Given the description of an element on the screen output the (x, y) to click on. 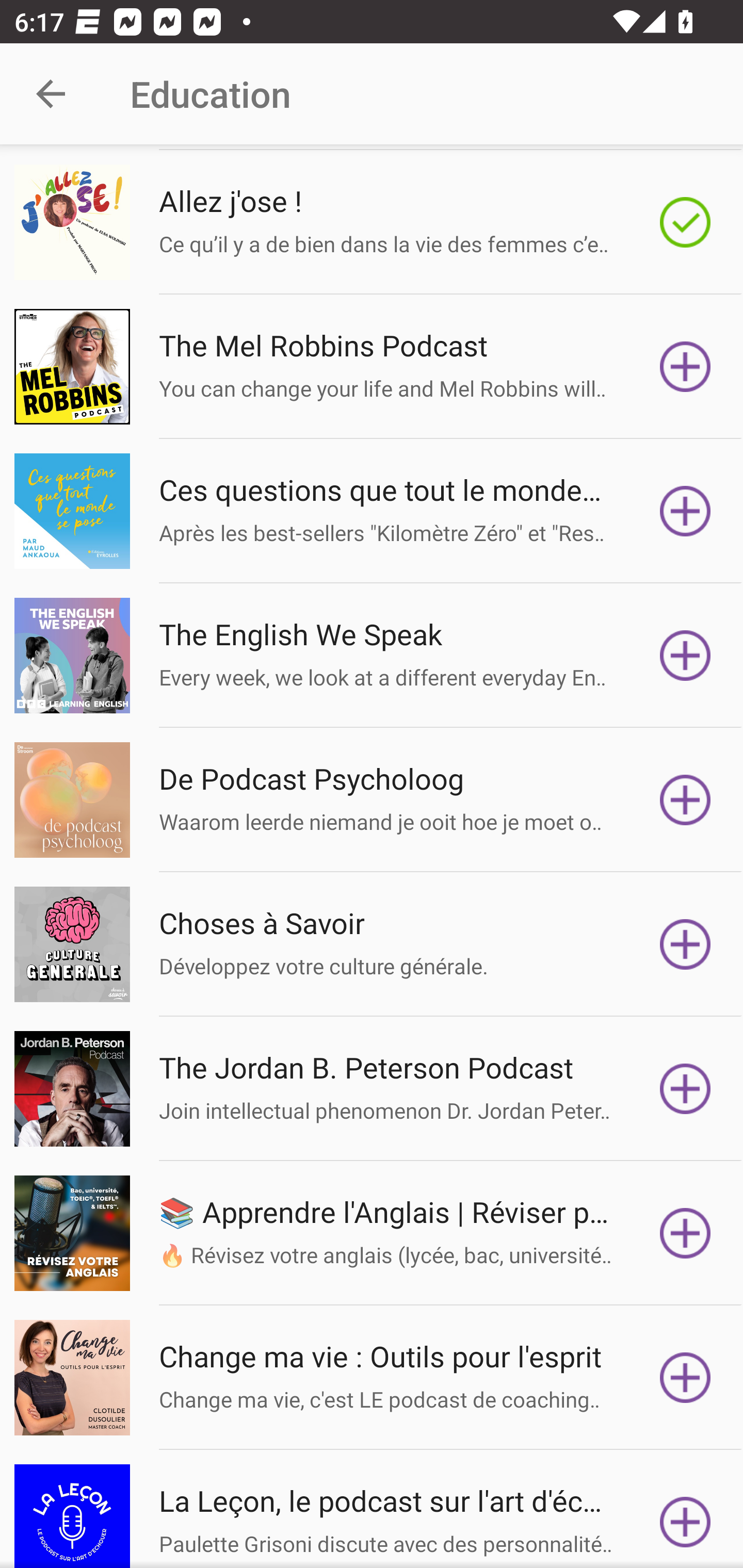
Navigate up (50, 93)
Subscribed (685, 222)
Subscribe (685, 366)
Subscribe (685, 511)
Subscribe (685, 655)
Subscribe (685, 799)
Subscribe (685, 943)
Subscribe (685, 1088)
Subscribe (685, 1233)
Subscribe (685, 1377)
Subscribe (685, 1516)
